Given the description of an element on the screen output the (x, y) to click on. 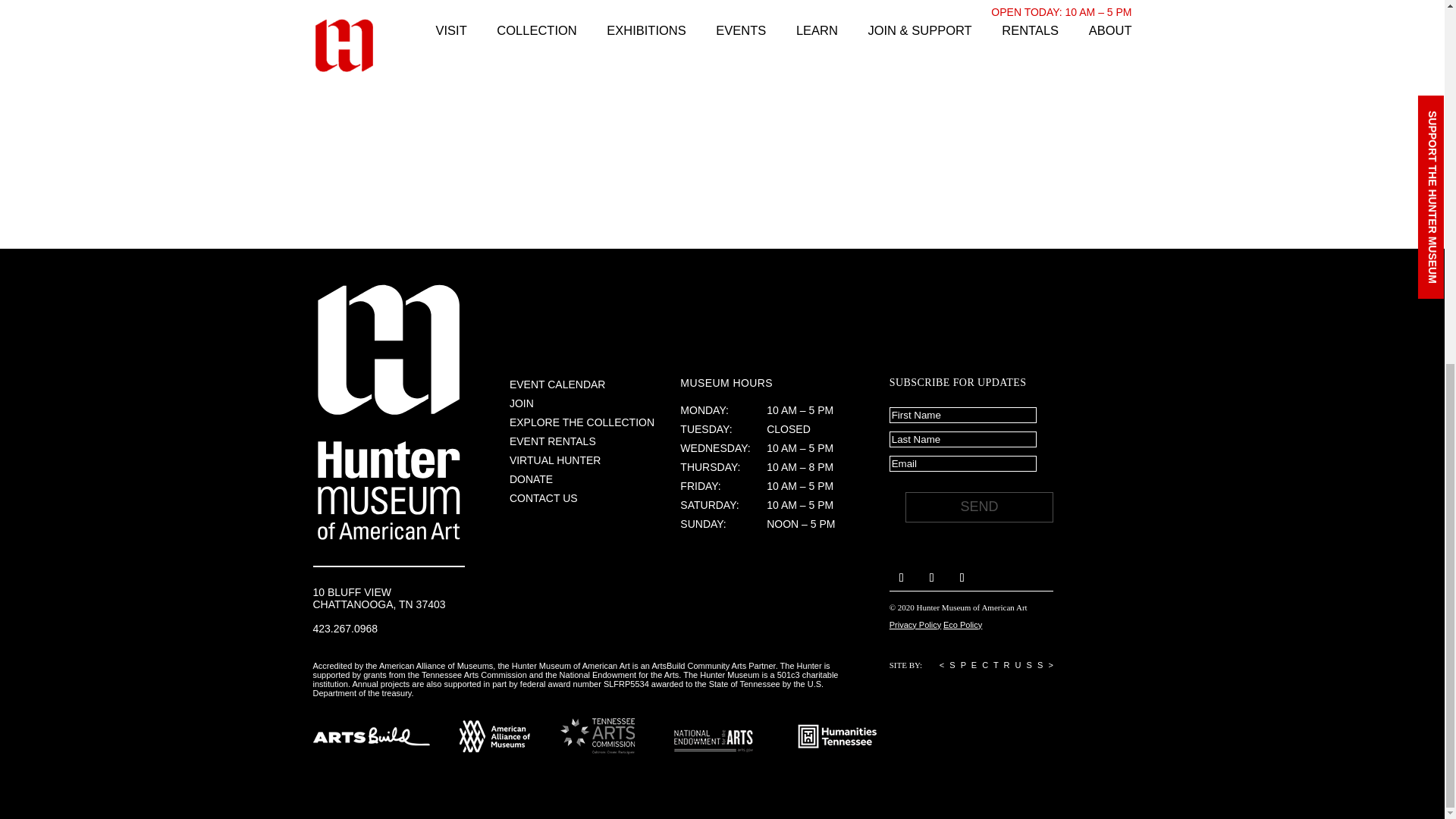
Youtube (962, 576)
SEND (978, 507)
Facebook (901, 576)
Instagram (931, 576)
